Given the description of an element on the screen output the (x, y) to click on. 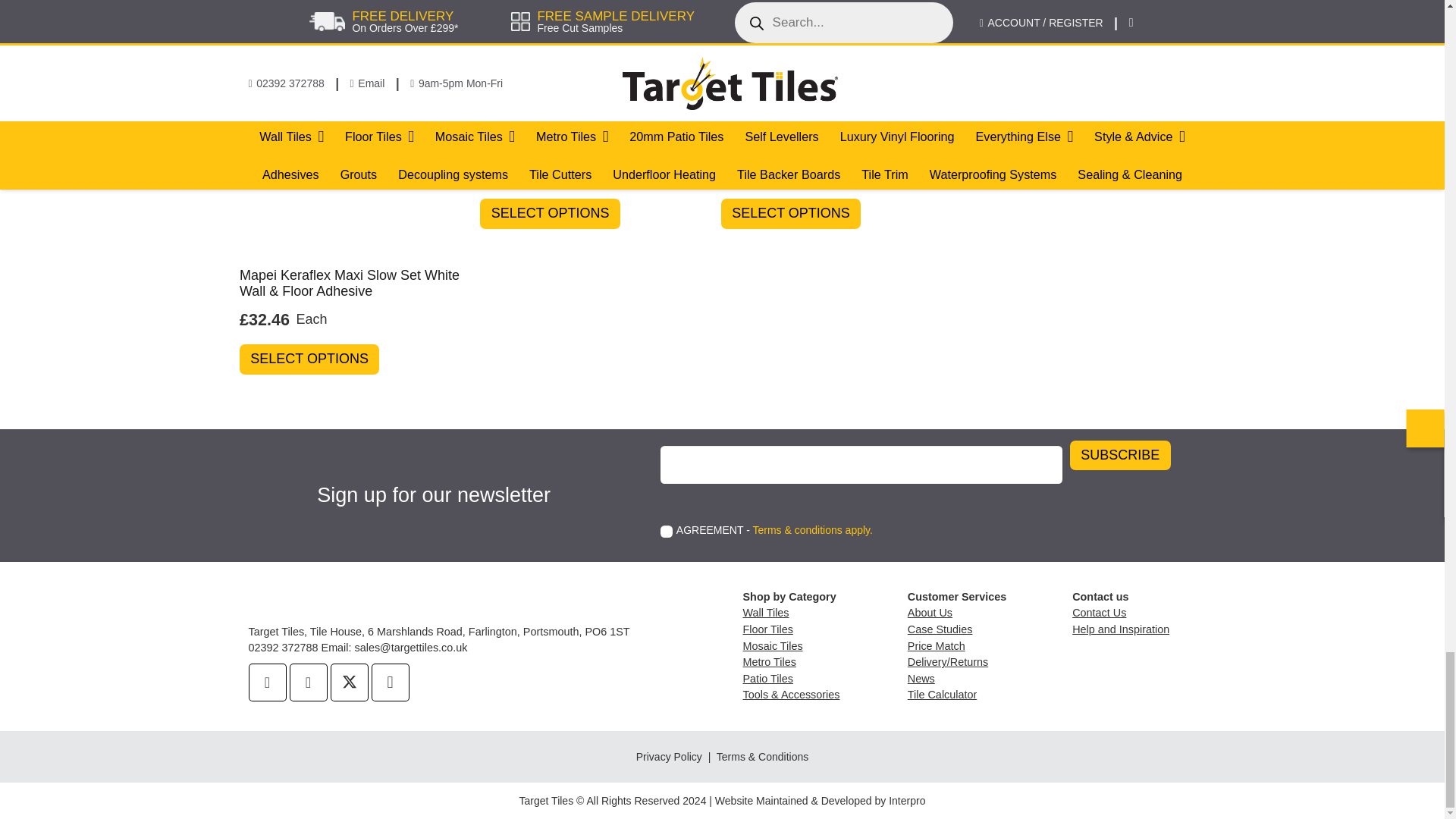
1 (666, 531)
Instagram (390, 682)
Facebook (267, 682)
Subscribe (1120, 455)
Pinterest (308, 682)
Twitter (349, 682)
